Given the description of an element on the screen output the (x, y) to click on. 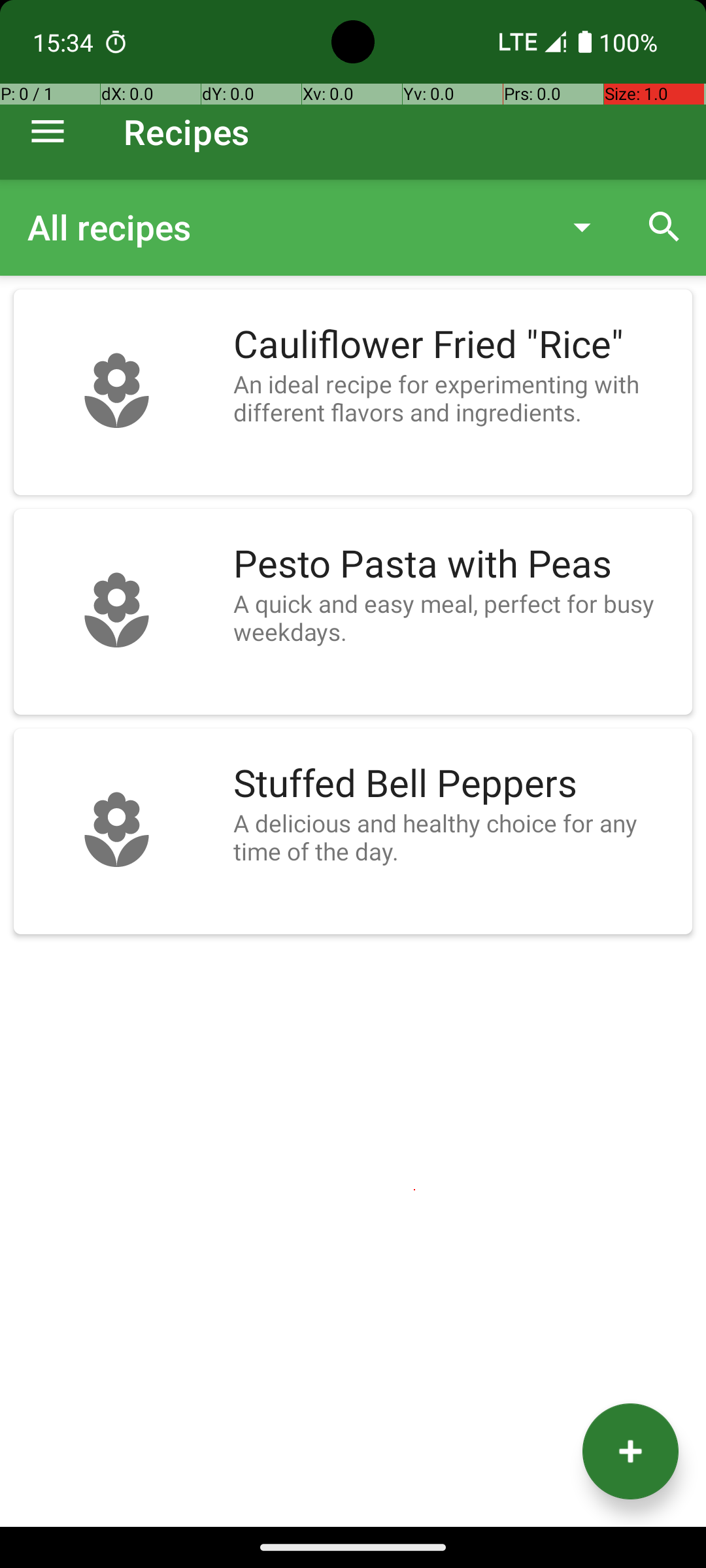
Stuffed Bell Peppers Element type: android.widget.TextView (455, 783)
